Given the description of an element on the screen output the (x, y) to click on. 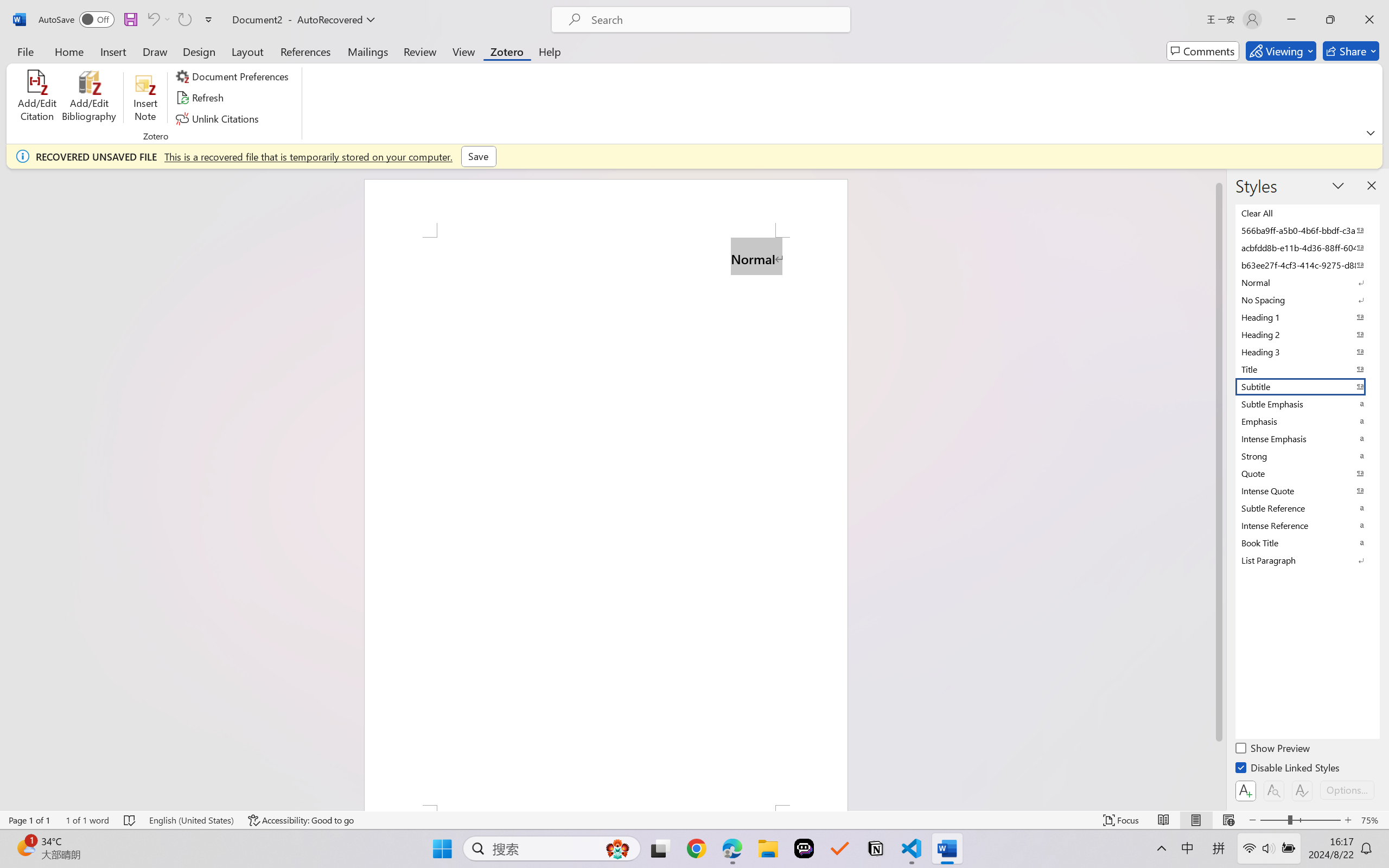
Class: NetUIButton (1301, 790)
Document Preferences (233, 75)
Subtitle (1306, 386)
No Spacing (1306, 300)
Emphasis (1306, 421)
Mode (1280, 50)
Ribbon Display Options (1370, 132)
Options... (1346, 789)
Intense Quote (1306, 490)
Disable Linked Styles (1287, 769)
